Given the description of an element on the screen output the (x, y) to click on. 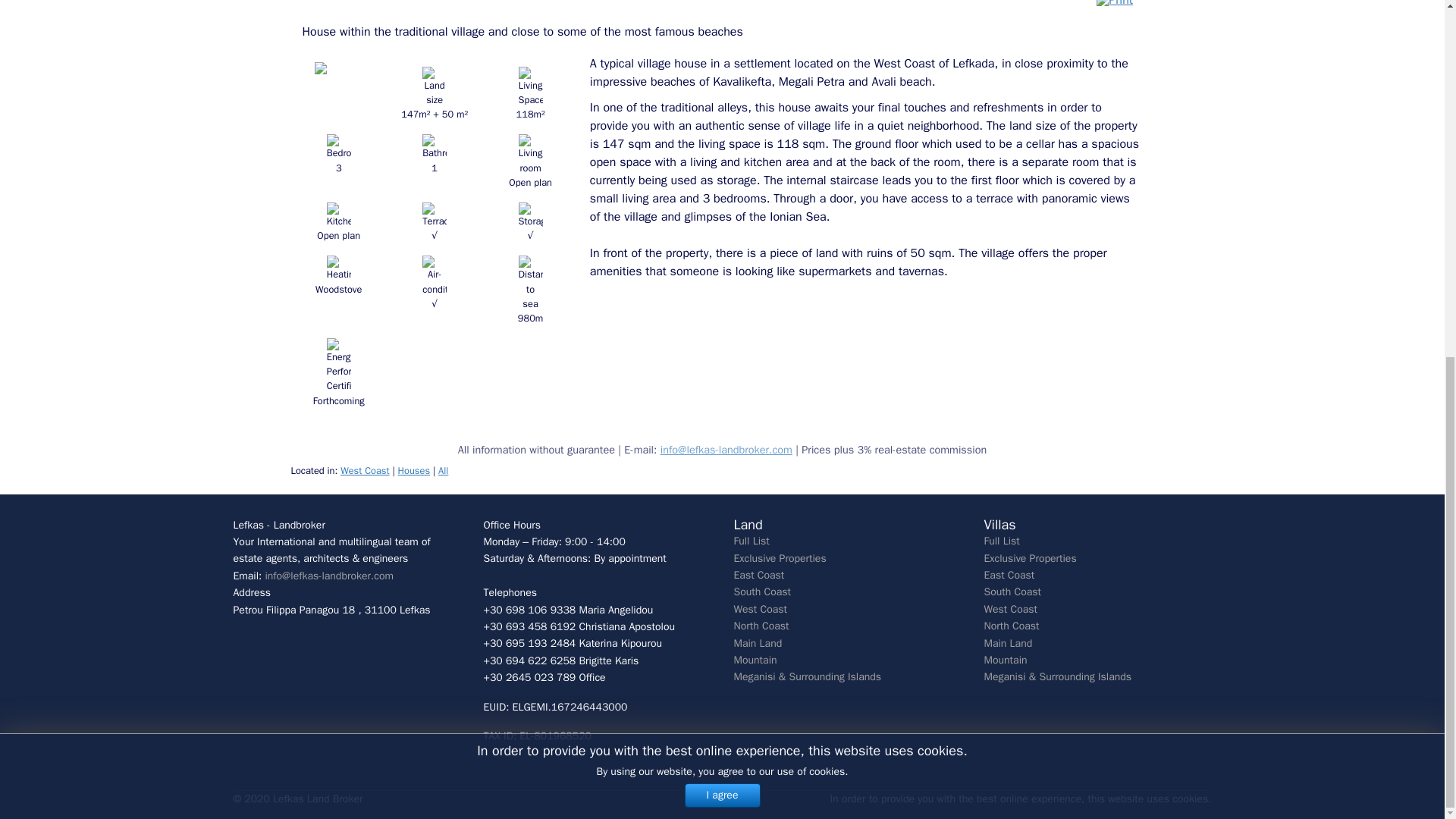
Terrace (434, 215)
Bedrooms (338, 147)
Print (1114, 6)
Living room (529, 161)
Kitchen (338, 215)
Land size (434, 94)
Houses (413, 470)
West Coast (364, 470)
Terrace (434, 222)
Bathrooms (434, 147)
